Given the description of an element on the screen output the (x, y) to click on. 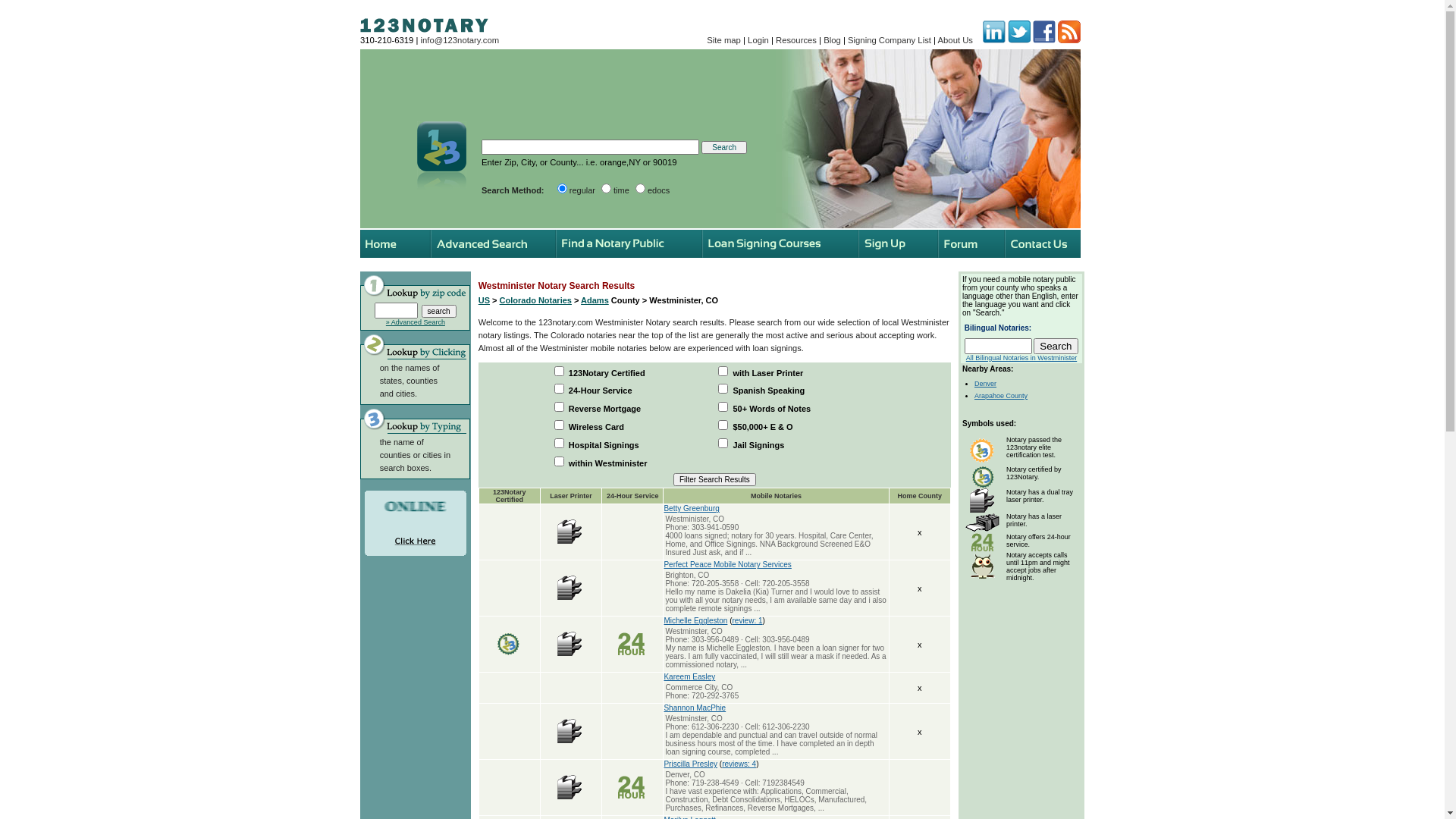
Shannon MacPhie Element type: text (694, 707)
search Element type: text (438, 310)
edocs Element type: text (640, 188)
Arapahoe County Element type: text (1000, 395)
Denver Element type: text (985, 383)
Perfect Peace Mobile Notary Services Element type: text (726, 564)
All Bilingual Notaries in Westminister Element type: text (1021, 357)
Blog Element type: text (831, 39)
Search Element type: text (1055, 346)
Required Element type: hover (590, 146)
info@123notary.com Element type: text (459, 39)
Search Element type: text (723, 147)
Adams Element type: text (594, 299)
time Element type: text (606, 188)
Betty Greenburg Element type: text (690, 508)
US Element type: text (483, 299)
Colorado Notaries Element type: text (535, 299)
Michelle Eggleston Element type: text (695, 620)
Signing Company List Element type: text (889, 39)
reviews: 4 Element type: text (738, 763)
Filter Search Results Element type: text (714, 479)
Priscilla Presley Element type: text (690, 763)
Site map Element type: text (723, 39)
Resources Element type: text (795, 39)
Kareem Easley Element type: text (689, 676)
About Us Element type: text (955, 39)
review: 1 Element type: text (747, 620)
regular Element type: text (562, 188)
Login Element type: text (757, 39)
